Given the description of an element on the screen output the (x, y) to click on. 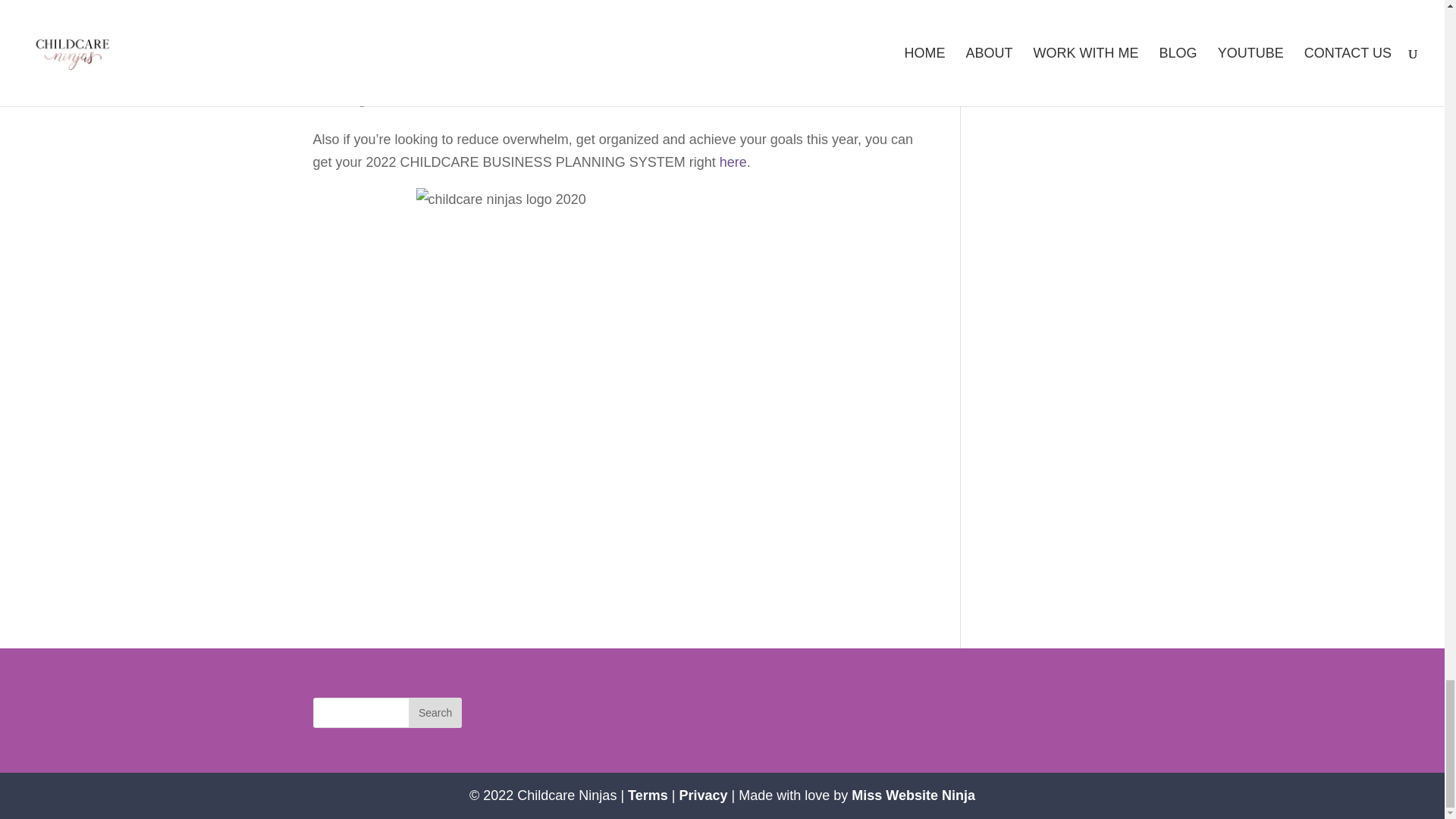
Privacy (702, 795)
Search (435, 712)
Terms (647, 795)
here (732, 161)
Search (435, 712)
HERE (480, 100)
Miss Website Ninja (913, 795)
Instagram,  (424, 77)
